Given the description of an element on the screen output the (x, y) to click on. 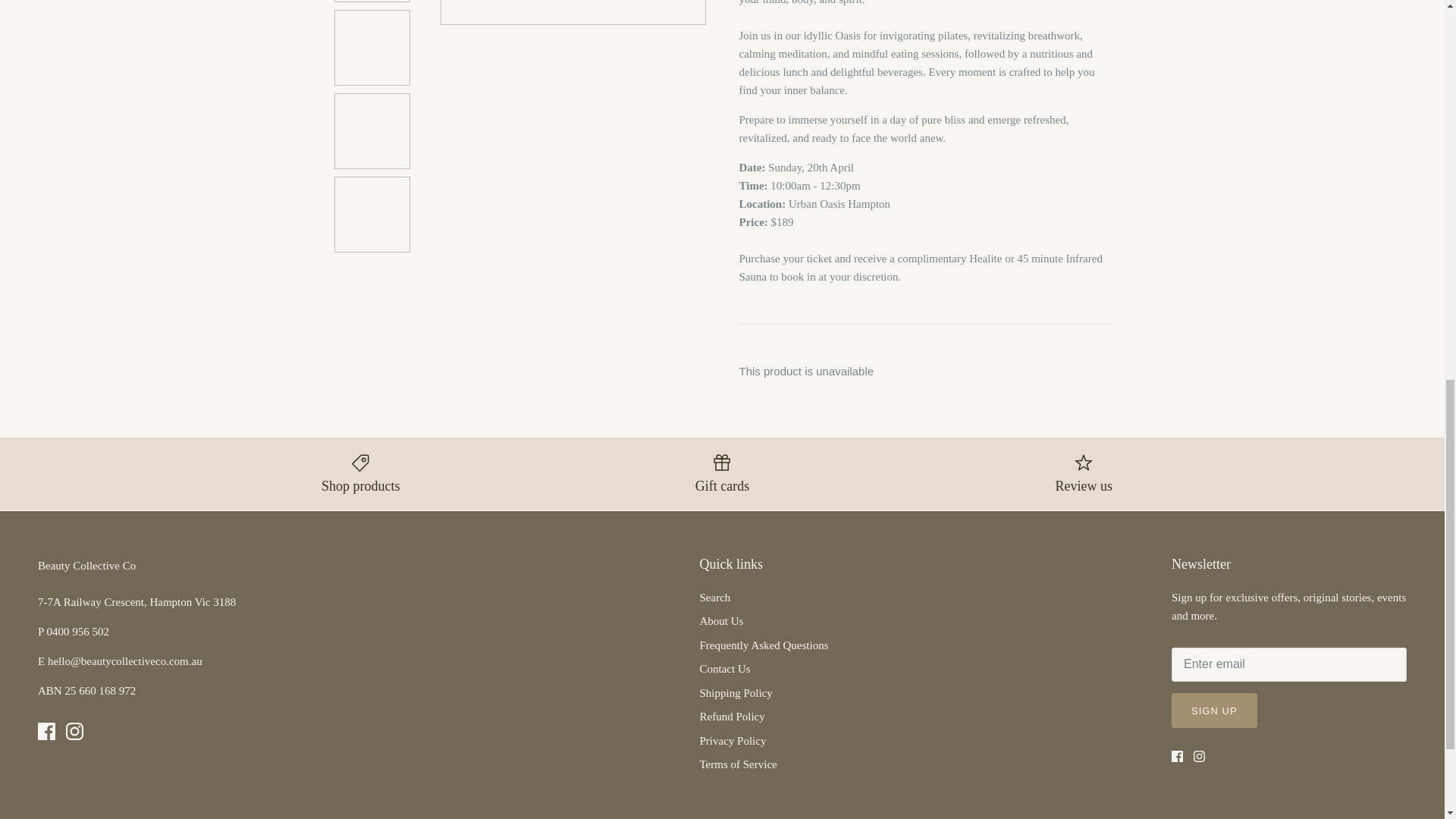
Facebook (46, 731)
Facebook (1177, 756)
Instagram (73, 731)
Instagram (1199, 756)
